Given the description of an element on the screen output the (x, y) to click on. 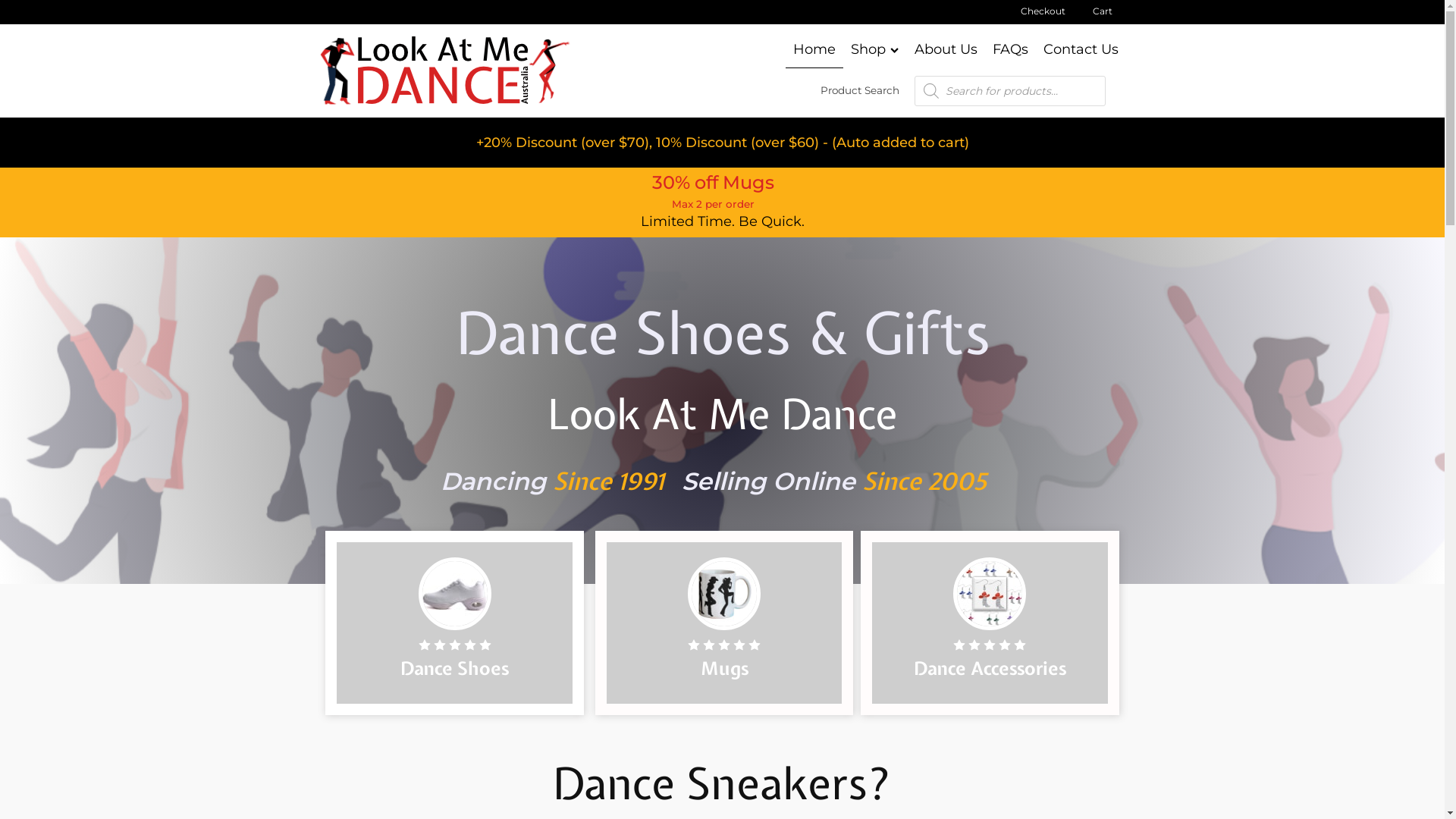
FAQs Element type: text (1009, 49)
About Us Element type: text (945, 49)
Dance Shoes Element type: text (454, 622)
Shop Element type: text (874, 49)
Mugs Element type: text (724, 622)
Dance Accessories Element type: text (989, 622)
Cart Element type: text (1101, 11)
Contact Us Element type: text (1080, 49)
Checkout Element type: text (1043, 11)
Home Element type: text (814, 49)
